Given the description of an element on the screen output the (x, y) to click on. 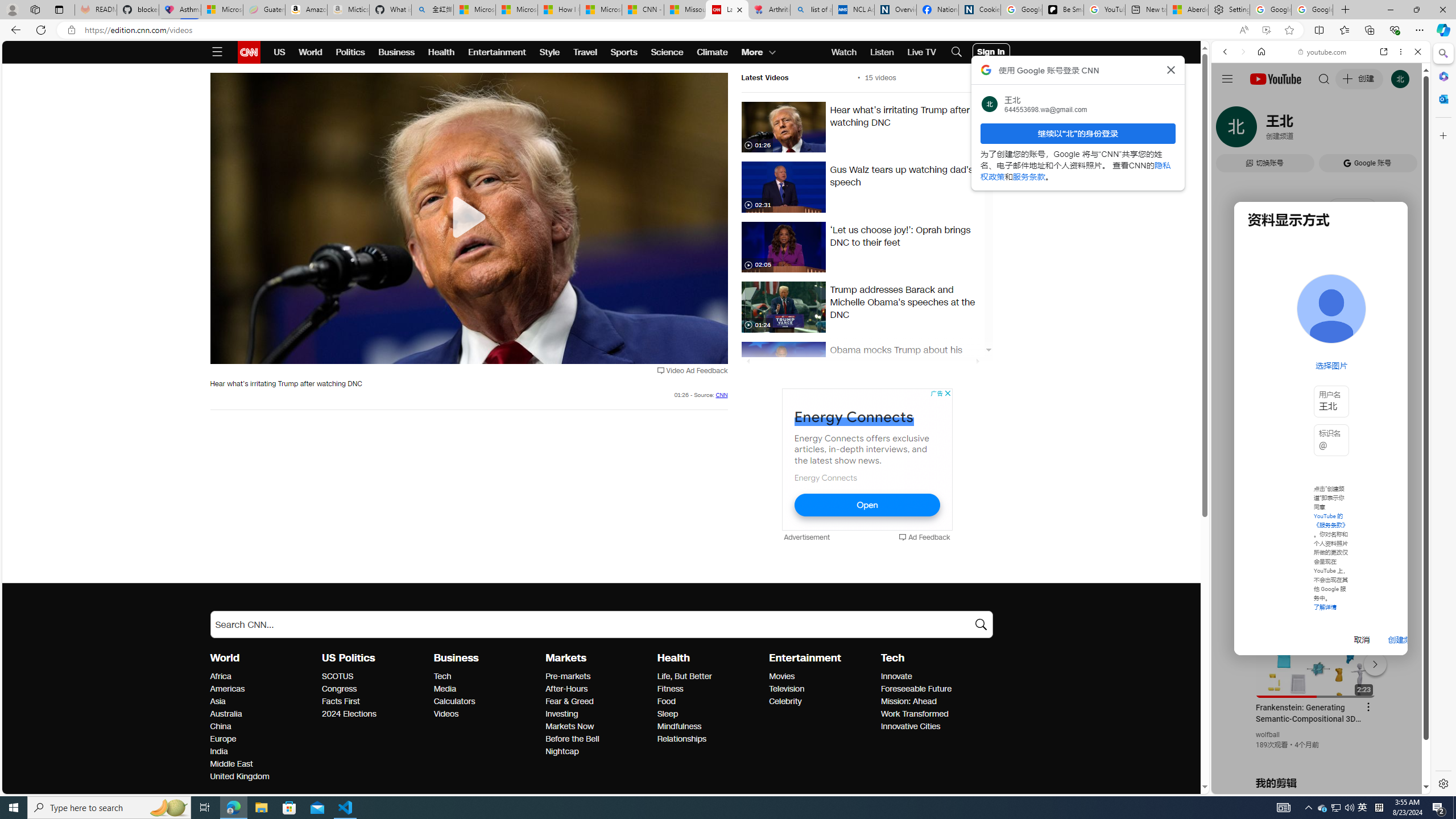
Health Relationships (681, 738)
Markets Fear & Greed (570, 701)
World India (218, 751)
Americas (262, 688)
Tech (892, 657)
Life, But Better (709, 676)
Actions for this site (1371, 661)
US PoliticsSCOTUSCongressFacts First2024 Elections (377, 685)
Latest Videos | CNN (726, 9)
CNN (721, 394)
Innovate (932, 676)
